Given the description of an element on the screen output the (x, y) to click on. 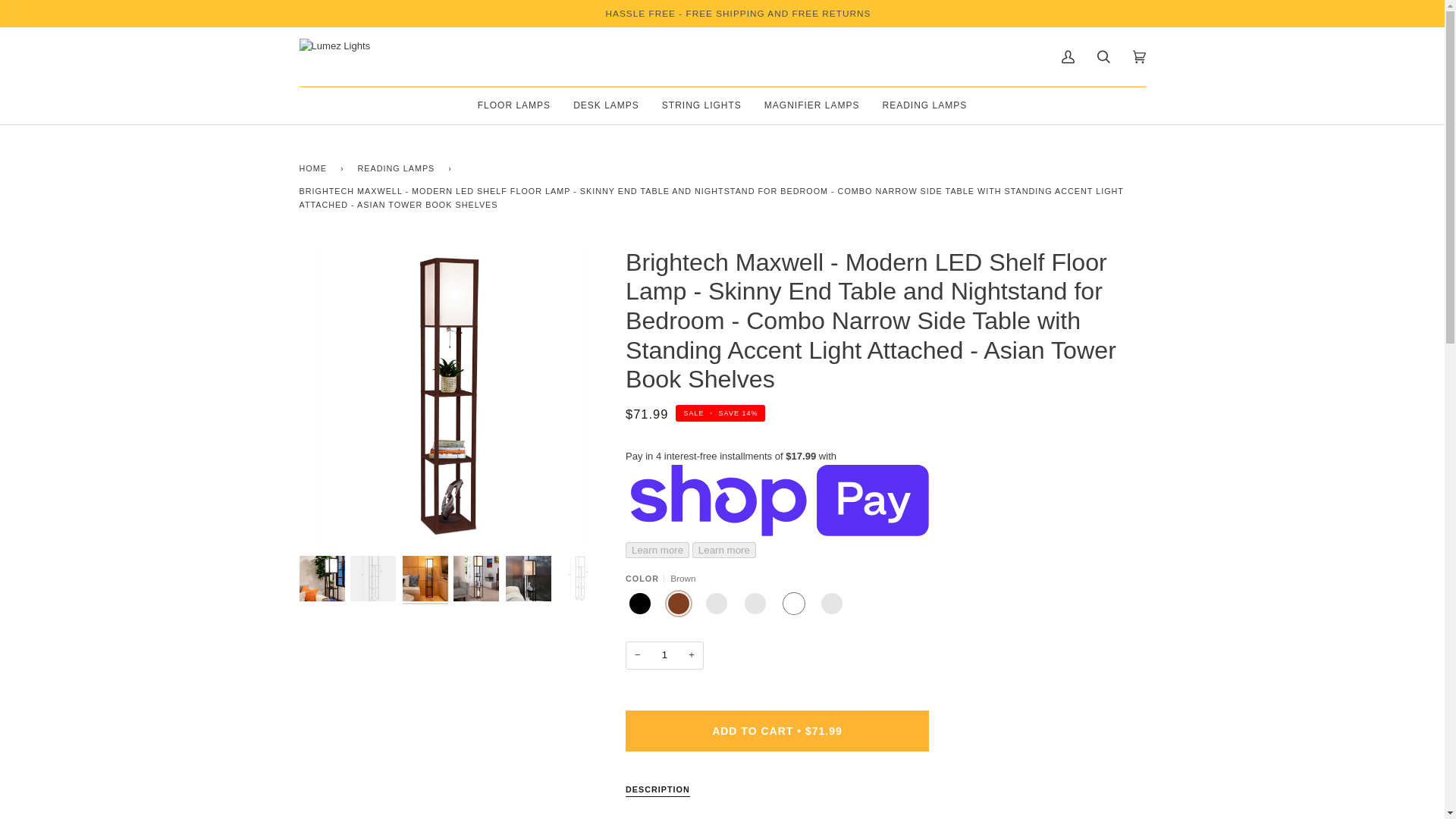
Back to the frontpage (314, 168)
READING LAMPS (924, 106)
READING LAMPS (399, 168)
HOME (314, 168)
STRING LIGHTS (701, 106)
MAGNIFIER LAMPS (811, 106)
DESK LAMPS (606, 106)
1 (664, 655)
FLOOR LAMPS (513, 106)
